Given the description of an element on the screen output the (x, y) to click on. 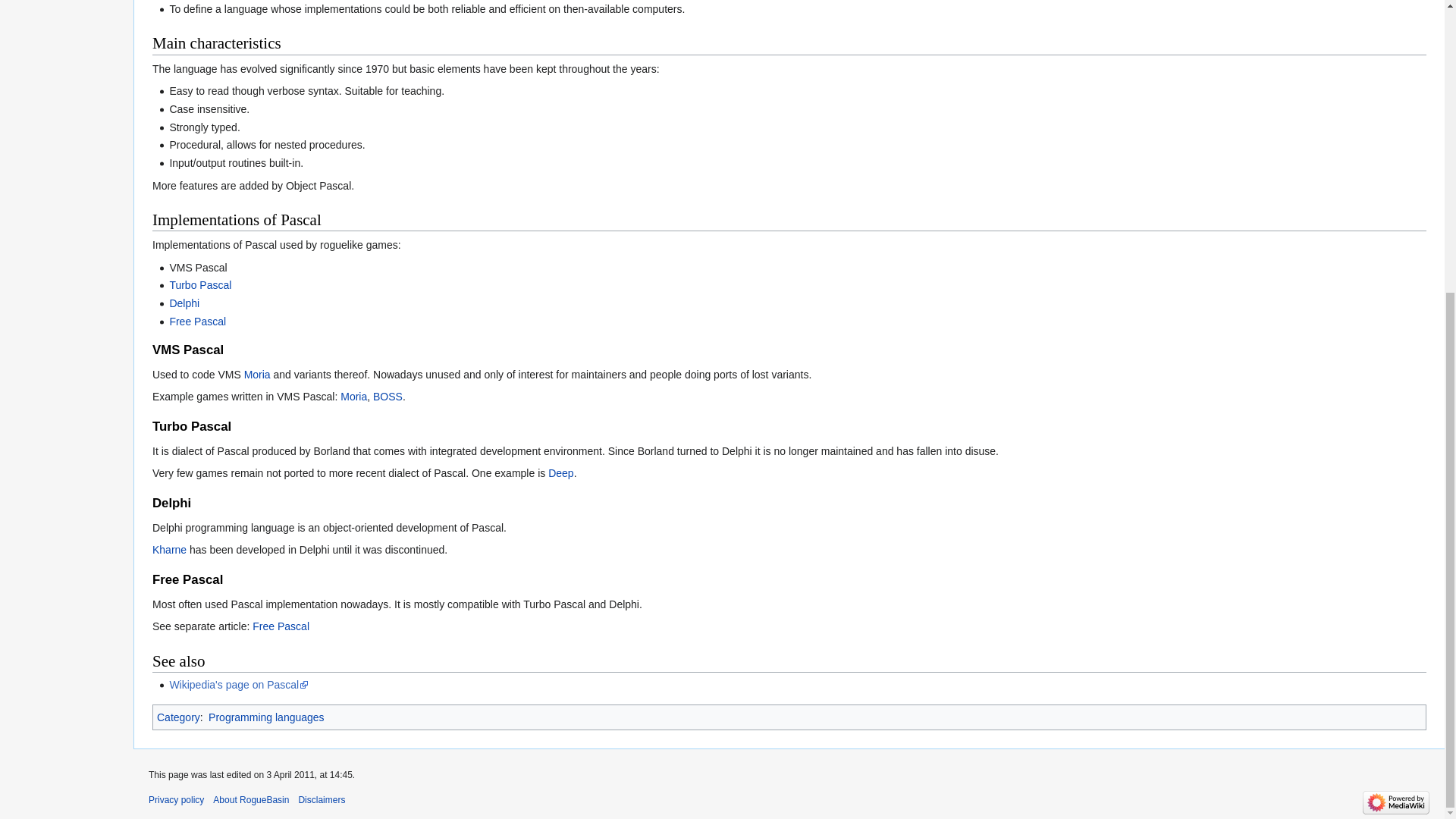
Moria (353, 396)
Turbo Pascal (199, 285)
Programming languages (266, 717)
Free Pascal (196, 321)
Delphi (183, 303)
Moria (257, 374)
Kharne (169, 549)
Category:Programming languages (266, 717)
Kharne (169, 549)
BOSS (387, 396)
BOSS (387, 396)
Deep (560, 472)
Free Pascal (196, 321)
Turbo Pascal (199, 285)
Category (178, 717)
